Given the description of an element on the screen output the (x, y) to click on. 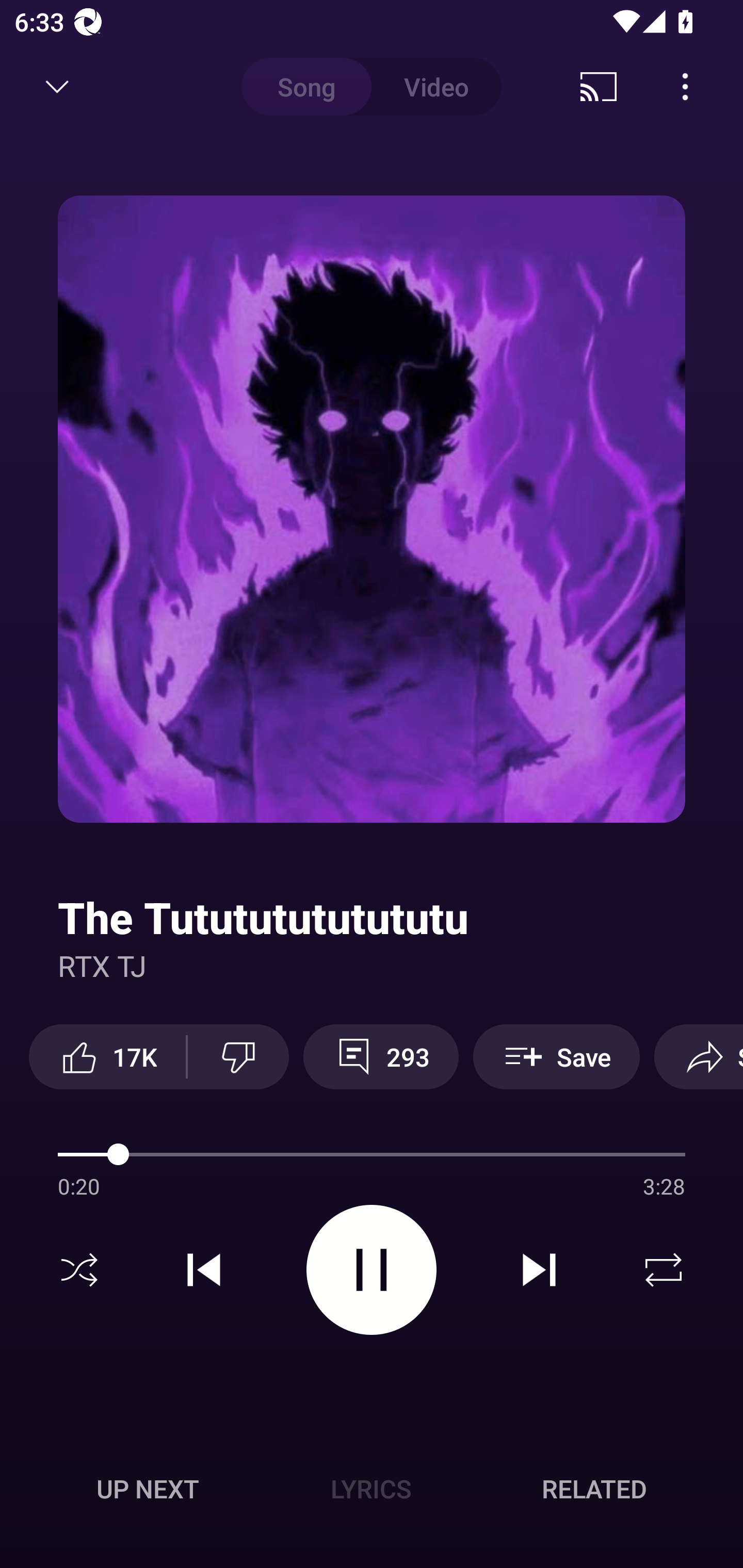
Minimize (57, 86)
Cast. Disconnected (598, 86)
Menu (684, 86)
17K like this video along with 17,363 other people (106, 1056)
Dislike (238, 1056)
293 View 293 comments (380, 1056)
Save Save to playlist (556, 1056)
Share (698, 1056)
Pause video (371, 1269)
Shuffle off (79, 1269)
Previous track (203, 1269)
Next track (538, 1269)
Repeat off (663, 1269)
Up next UP NEXT Lyrics LYRICS Related RELATED (371, 1491)
Lyrics LYRICS (370, 1488)
Related RELATED (594, 1488)
